Given the description of an element on the screen output the (x, y) to click on. 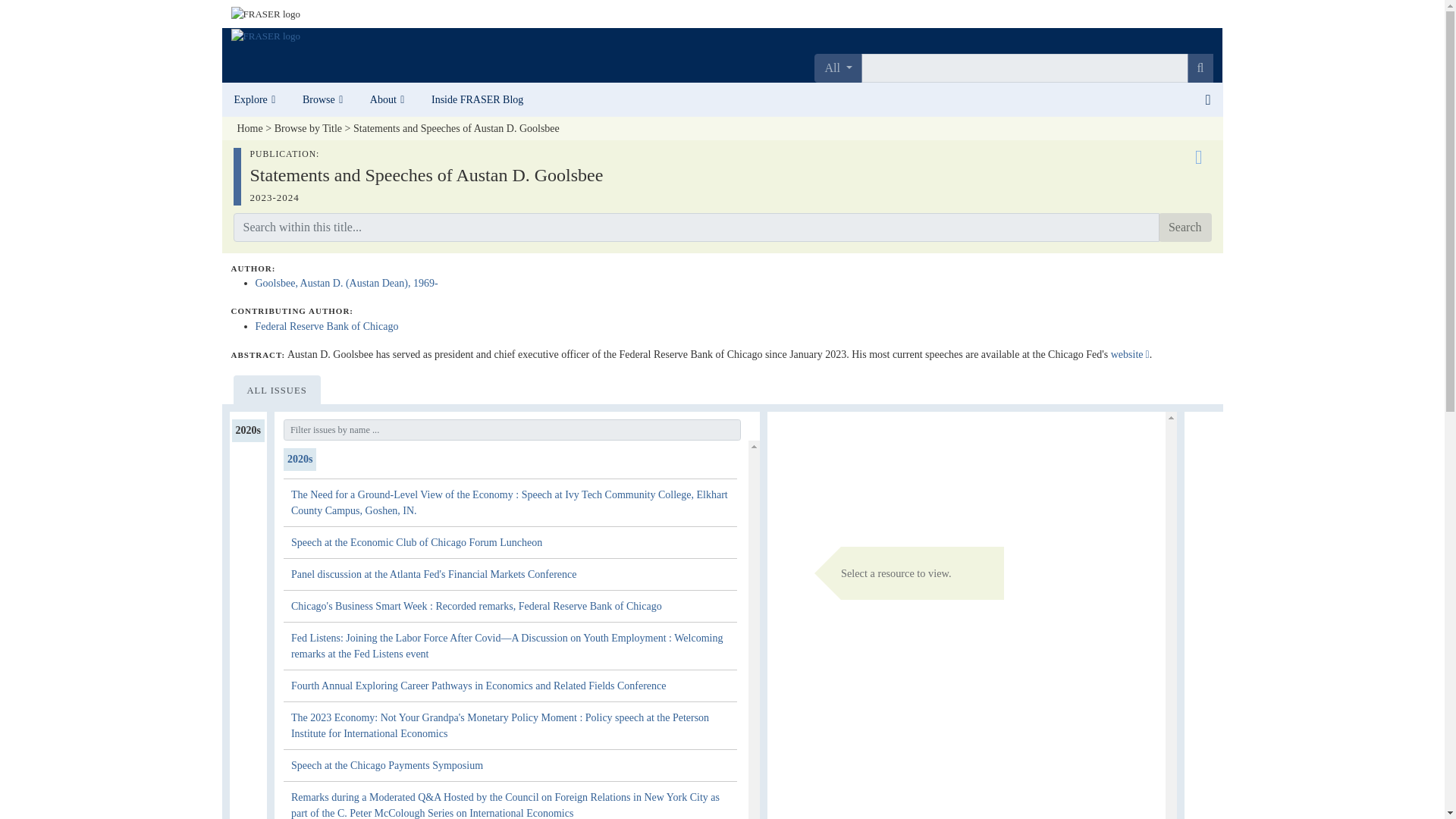
Browse by Title (308, 128)
Search (1184, 226)
Home (248, 128)
website (1130, 354)
Federal Reserve Bank of Chicago (325, 326)
Explore (255, 99)
About (388, 99)
Inside FRASER Blog (477, 99)
All (837, 68)
Statements and Speeches of Austan D. Goolsbee (456, 128)
Browse (323, 99)
